Given the description of an element on the screen output the (x, y) to click on. 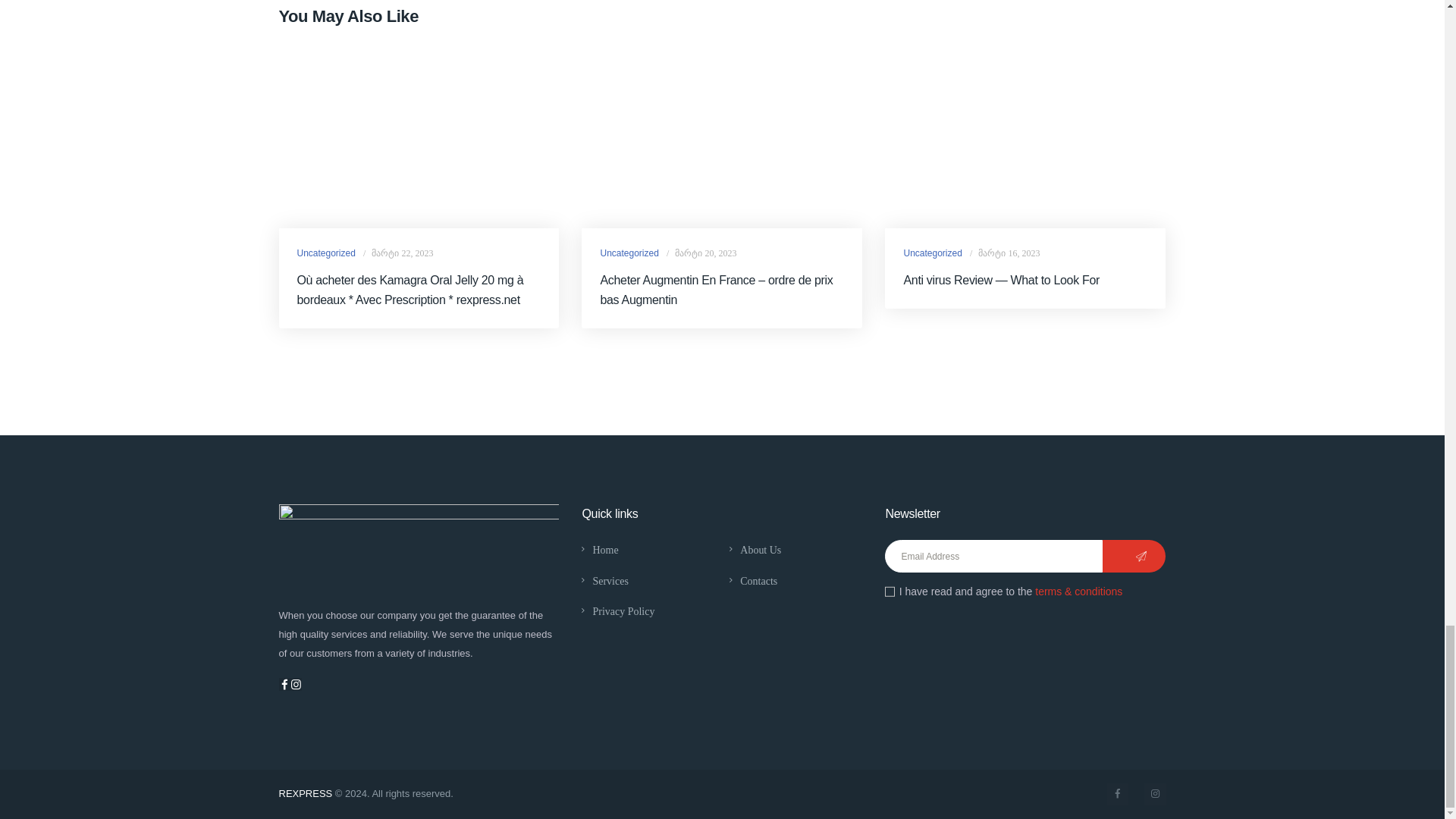
View all posts in Uncategorized (326, 253)
View all posts in Uncategorized (931, 253)
View all posts in Uncategorized (628, 253)
